Given the description of an element on the screen output the (x, y) to click on. 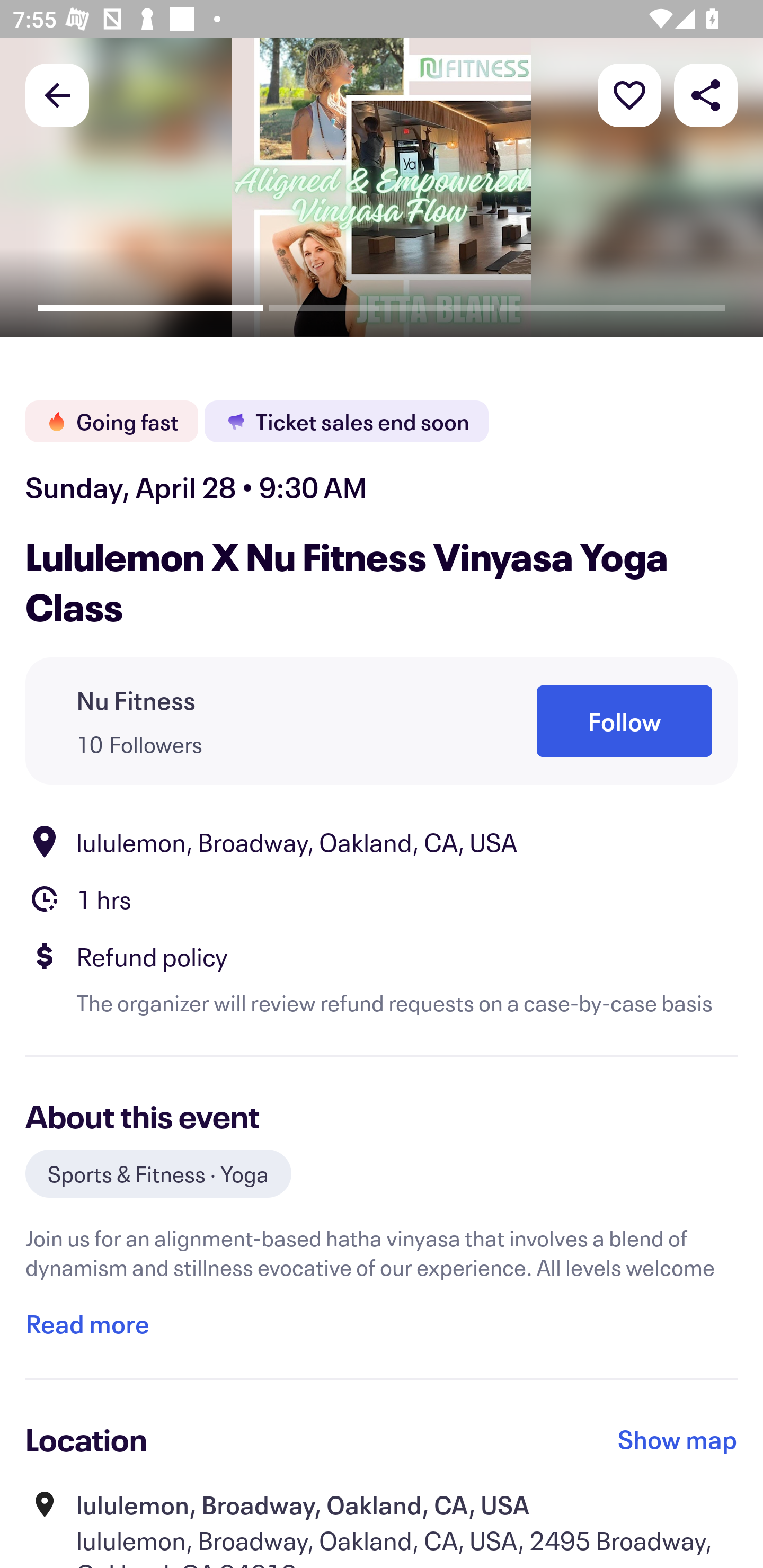
Back (57, 94)
More (629, 94)
Share (705, 94)
Nu Fitness (135, 699)
Follow (623, 720)
Location lululemon, Broadway, Oakland, CA, USA (381, 840)
Read more (87, 1323)
Show map (677, 1439)
